Given the description of an element on the screen output the (x, y) to click on. 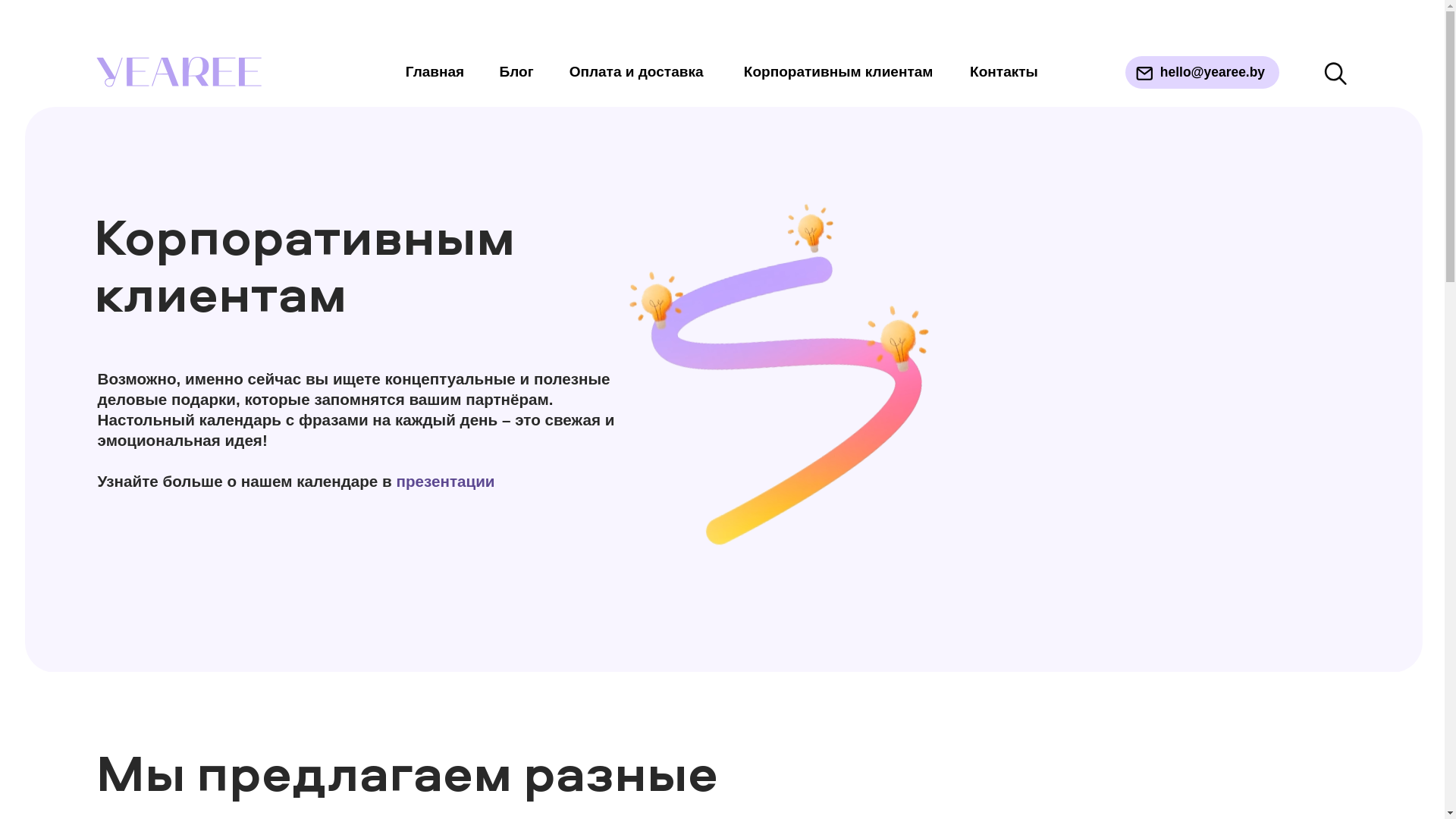
hello@yearee.by Element type: text (764, 45)
